Given the description of an element on the screen output the (x, y) to click on. 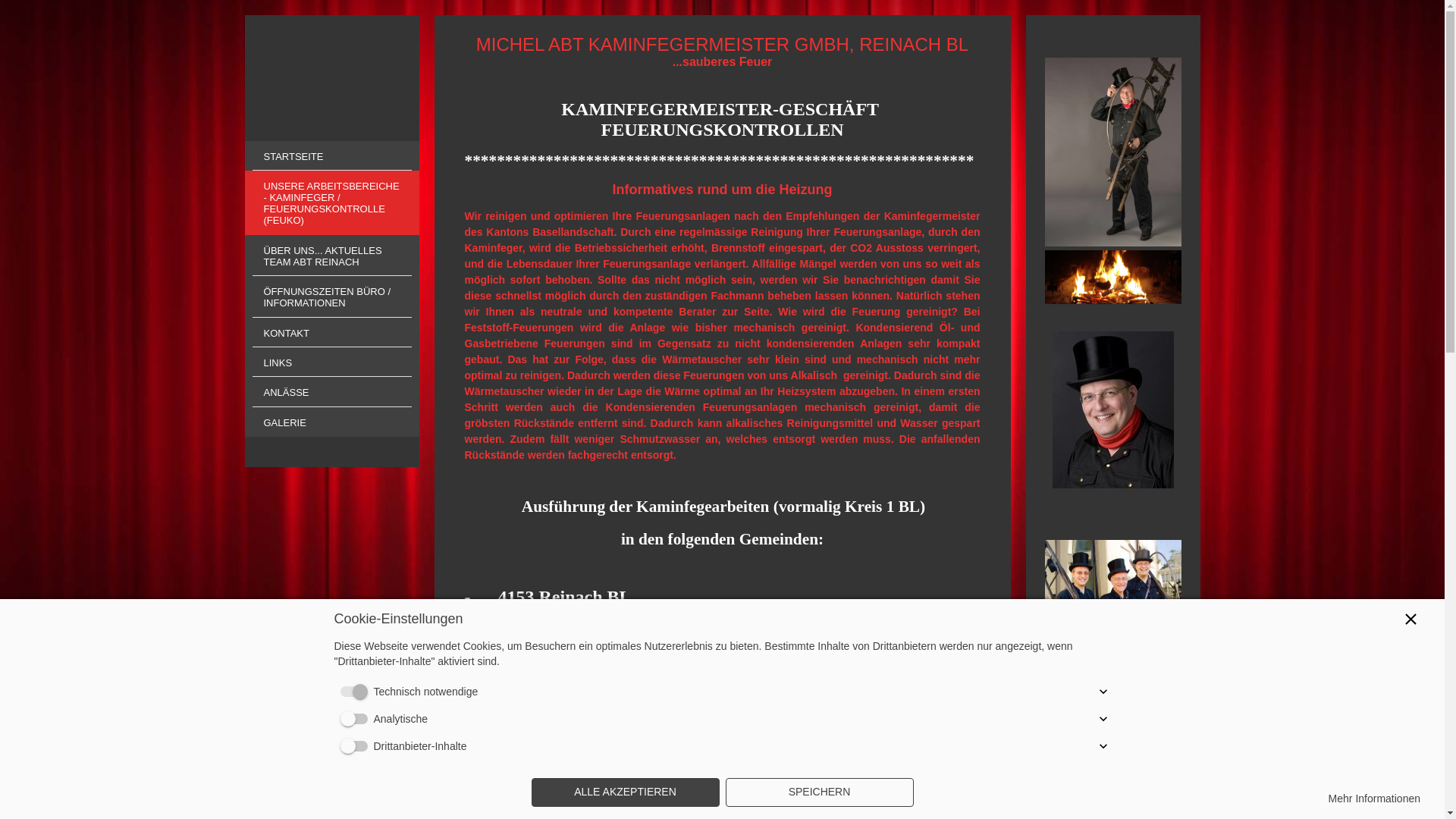
ALLE AKZEPTIEREN Element type: text (624, 792)
GALERIE Element type: text (331, 421)
SPEICHERN Element type: text (818, 792)
  Element type: text (331, 78)
KONTAKT Element type: text (331, 332)
STARTSEITE Element type: text (331, 155)
Direktmail Element type: hover (1112, 151)
Mehr Informationen Element type: text (1374, 798)
LINKS Element type: text (331, 361)
